Given the description of an element on the screen output the (x, y) to click on. 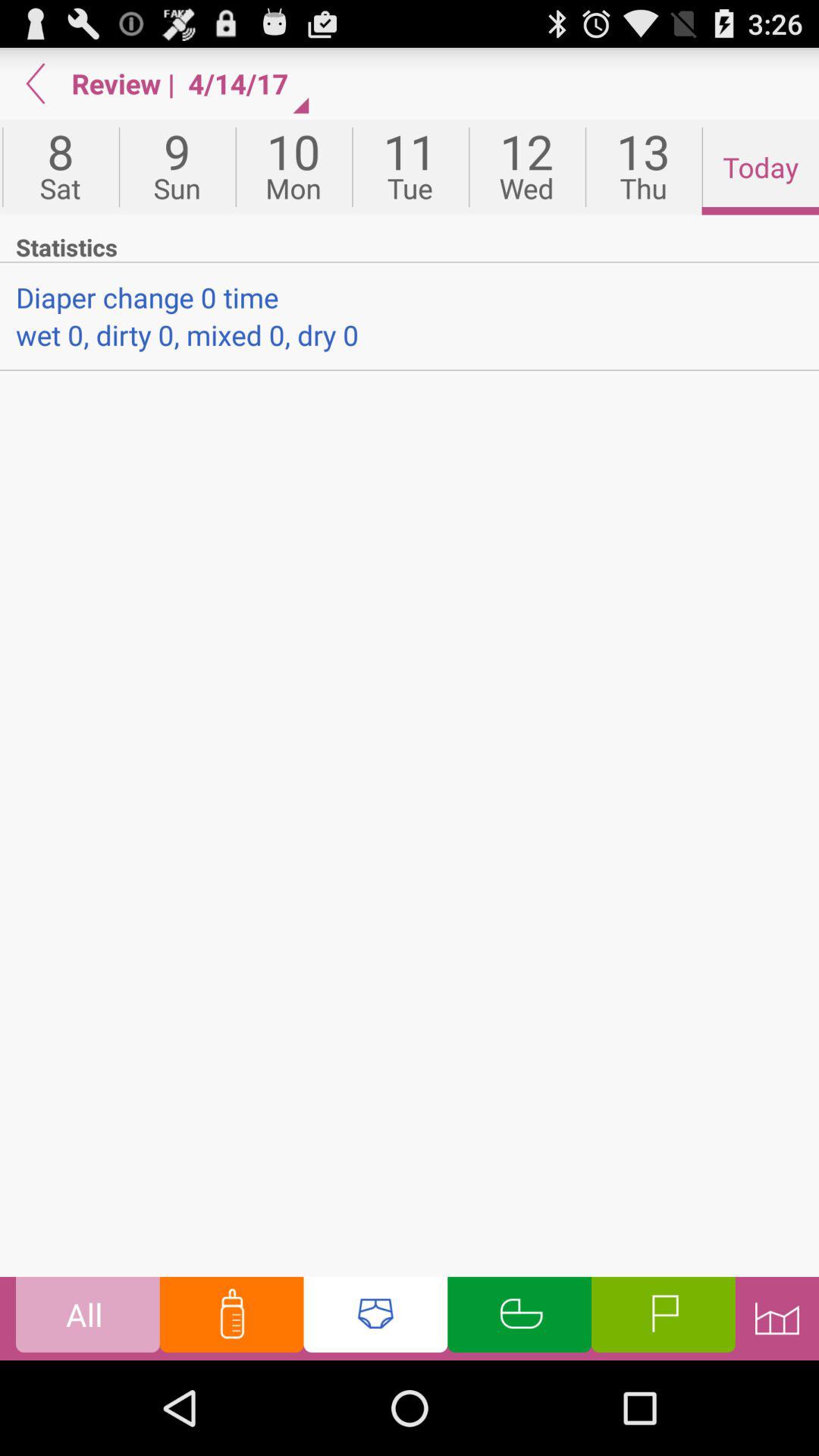
setting bar (777, 1318)
